Given the description of an element on the screen output the (x, y) to click on. 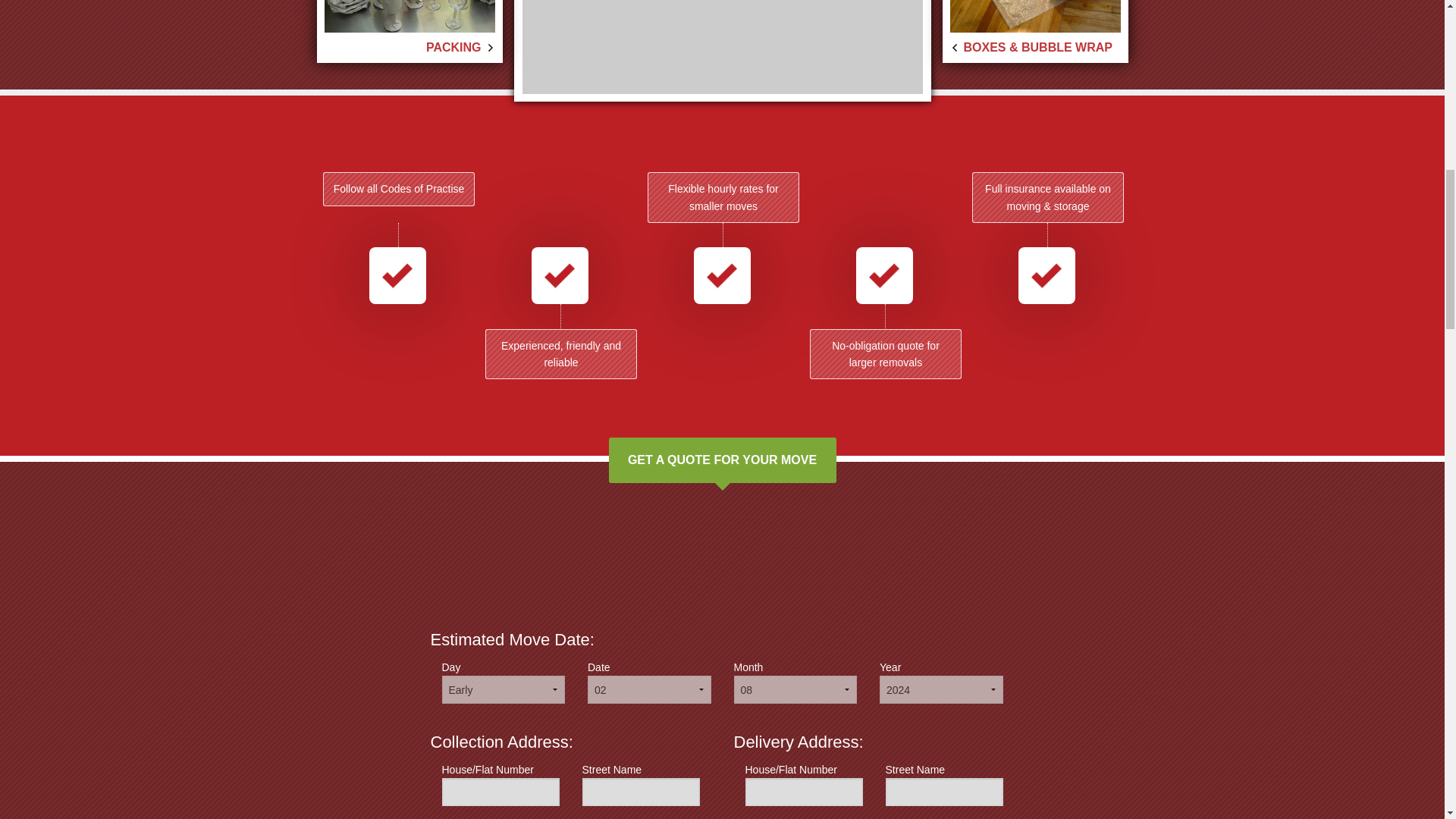
GET A QUOTE (445, 12)
GET A QUOTE (998, 12)
GET A QUOTE (998, 12)
GET A QUOTE (445, 12)
